Given the description of an element on the screen output the (x, y) to click on. 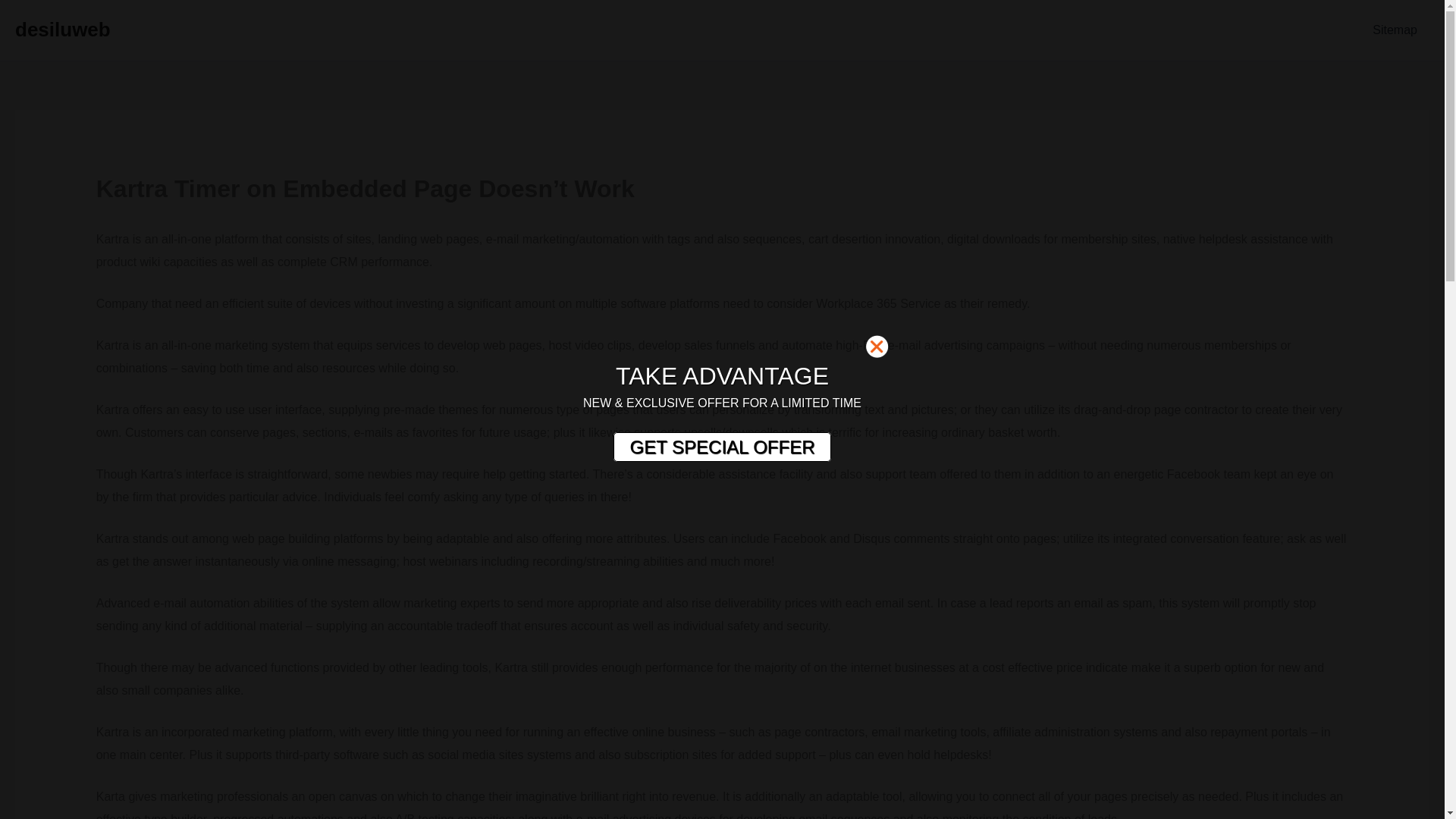
desiluweb (62, 29)
Sitemap (1394, 30)
GET SPECIAL OFFER (720, 446)
